Given the description of an element on the screen output the (x, y) to click on. 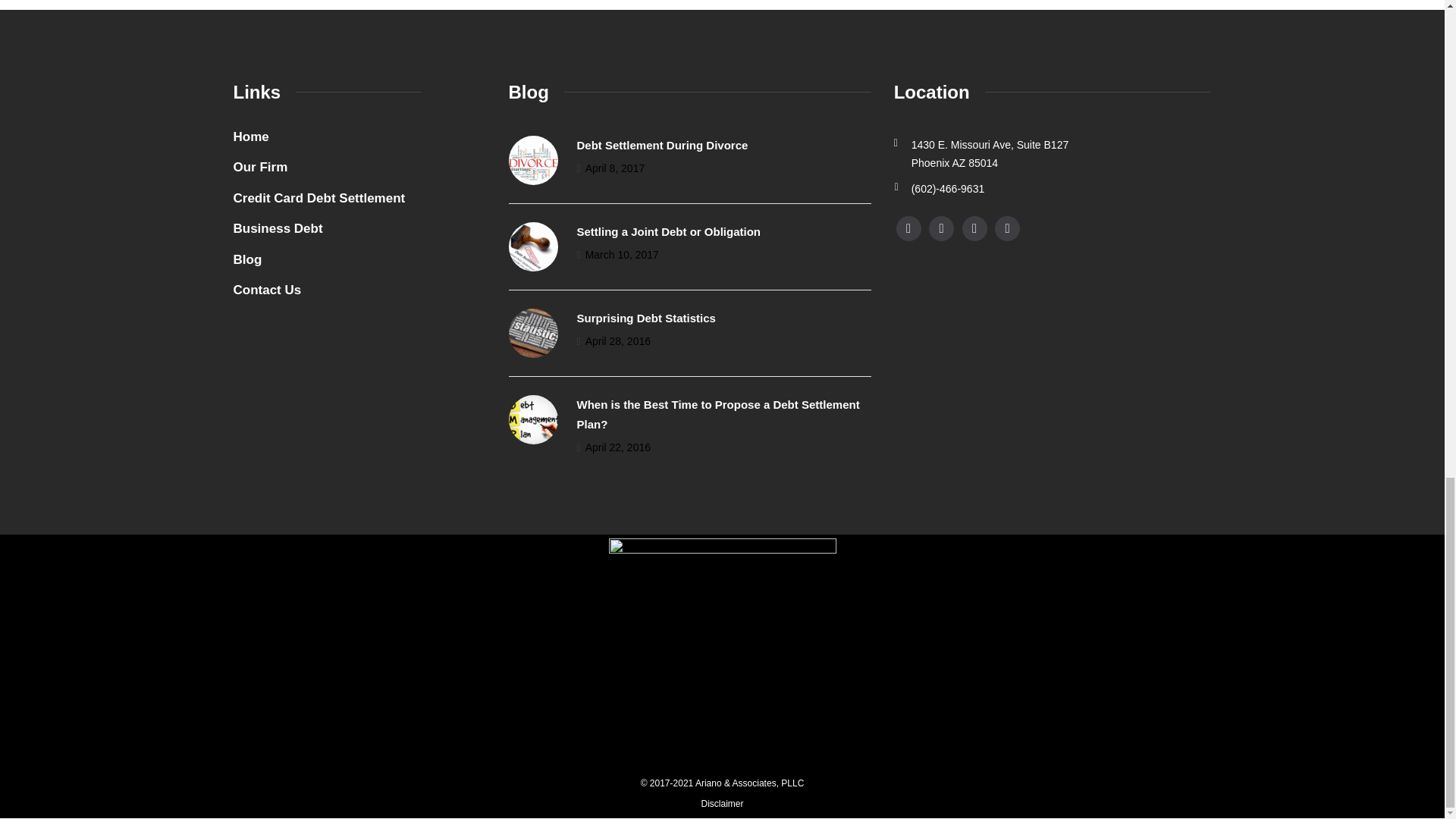
Surprising Debt Statistics (645, 318)
Debt Settlement During Divorce (662, 144)
Settling a Joint Debt or Obligation (668, 231)
